Given the description of an element on the screen output the (x, y) to click on. 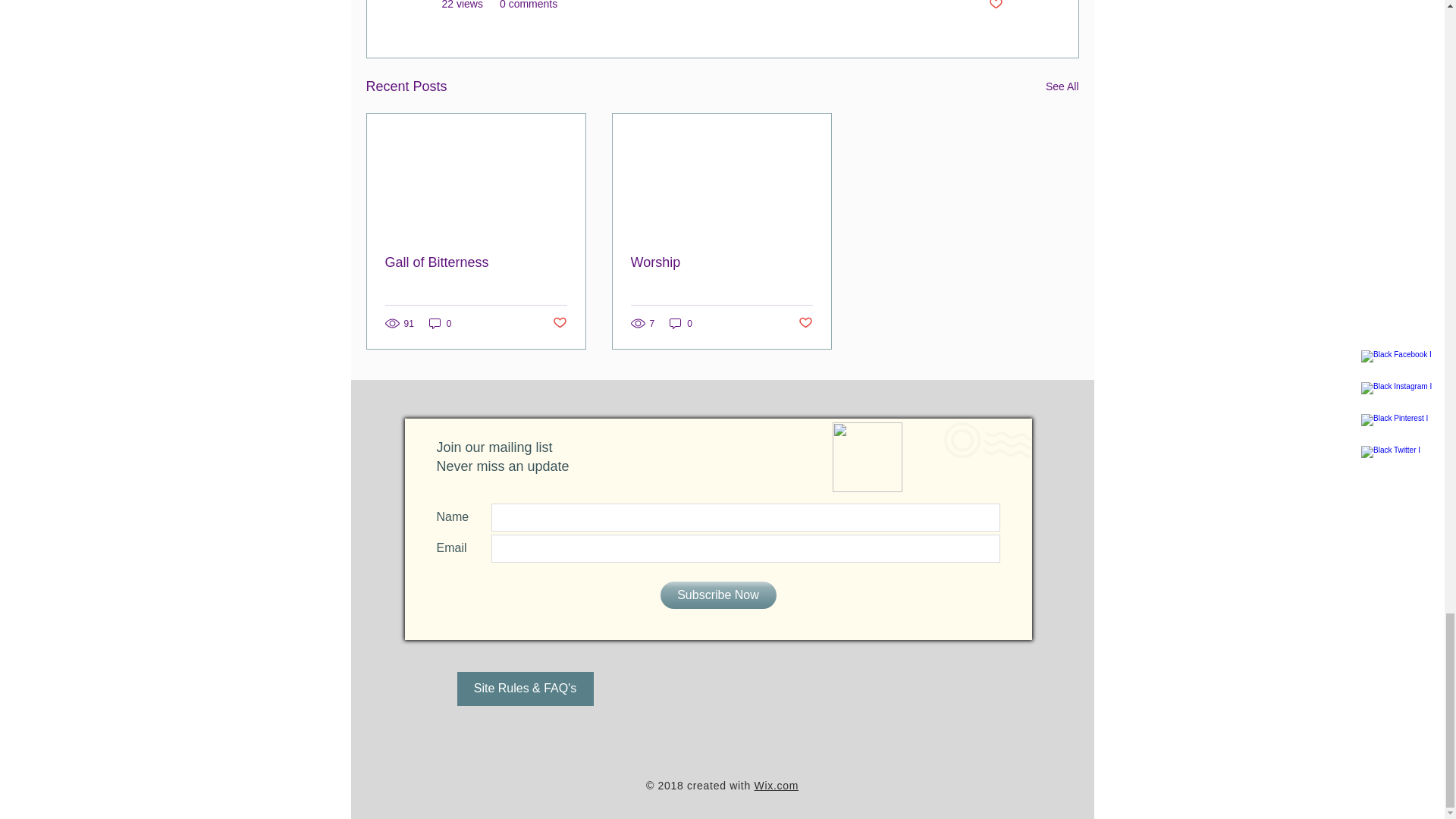
See All (1061, 86)
0 (681, 323)
Post not marked as liked (558, 323)
0 (440, 323)
Worship (721, 262)
Gall of Bitterness (476, 262)
Post not marked as liked (995, 6)
